Given the description of an element on the screen output the (x, y) to click on. 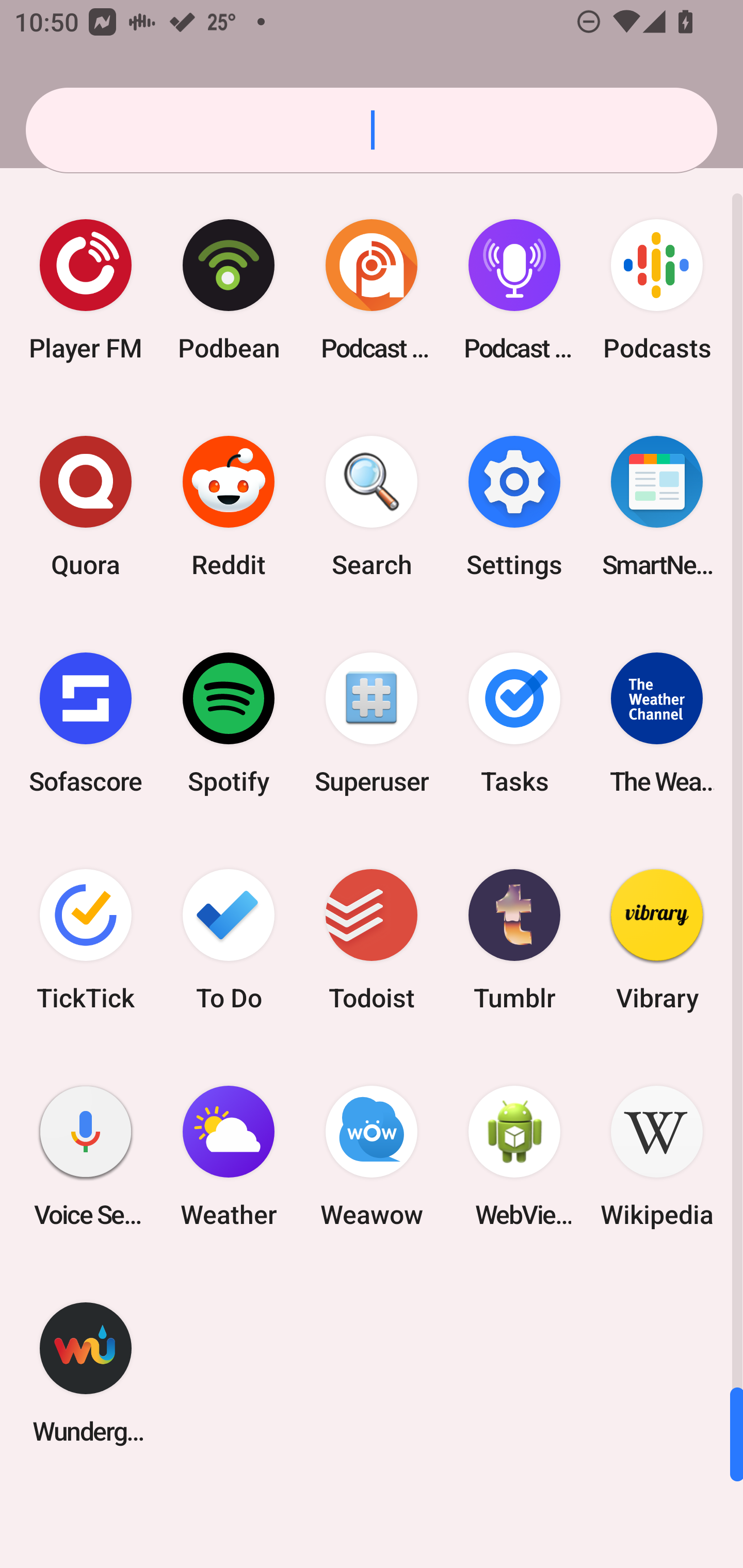
  Search apps (371, 130)
Player FM (85, 289)
Podbean (228, 289)
Podcast Addict (371, 289)
Podcast Player (514, 289)
Podcasts (656, 289)
Quora (85, 506)
Reddit (228, 506)
Search (371, 506)
Settings (514, 506)
SmartNews (656, 506)
Sofascore (85, 722)
Spotify (228, 722)
Superuser (371, 722)
Tasks (514, 722)
The Weather Channel (656, 722)
TickTick (85, 939)
To Do (228, 939)
Todoist (371, 939)
Tumblr (514, 939)
Vibrary (656, 939)
Voice Search (85, 1156)
Weather (228, 1156)
Weawow (371, 1156)
WebView Browser Tester (514, 1156)
Wikipedia (656, 1156)
Wunderground (85, 1373)
